Given the description of an element on the screen output the (x, y) to click on. 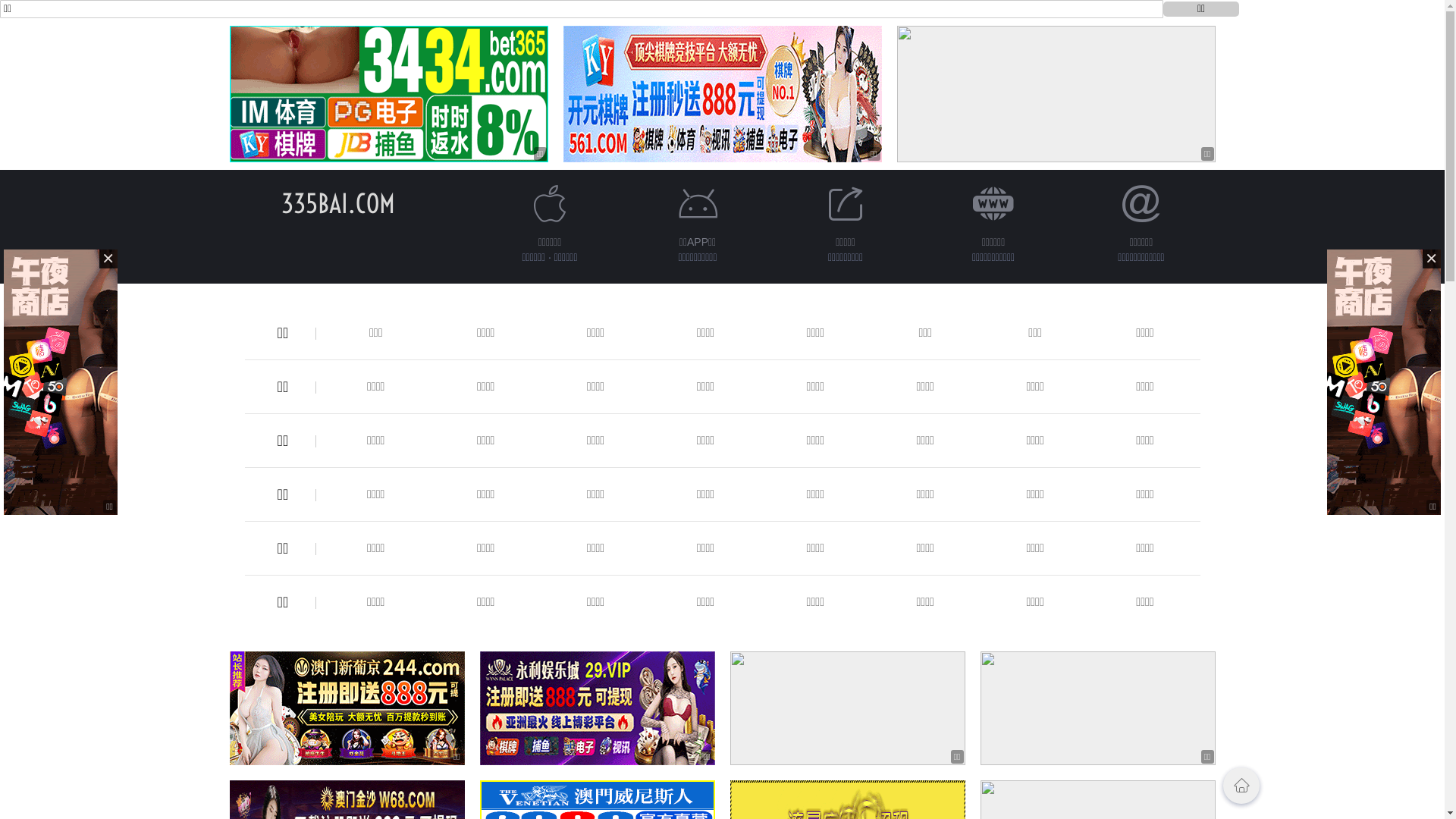
335BAI.COM Element type: text (337, 203)
